Given the description of an element on the screen output the (x, y) to click on. 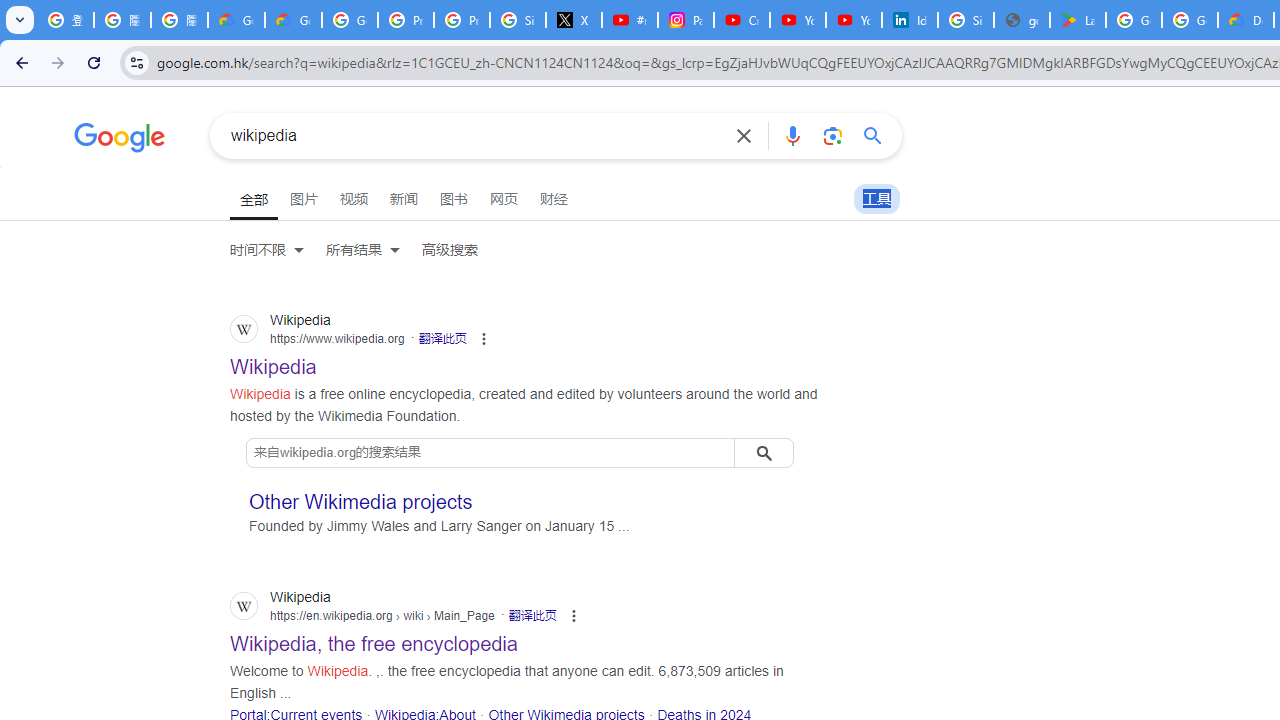
#nbabasketballhighlights - YouTube (629, 20)
Sign in - Google Accounts (966, 20)
Other Wikimedia projects (361, 501)
Privacy Help Center - Policies Help (405, 20)
Google (120, 139)
